Given the description of an element on the screen output the (x, y) to click on. 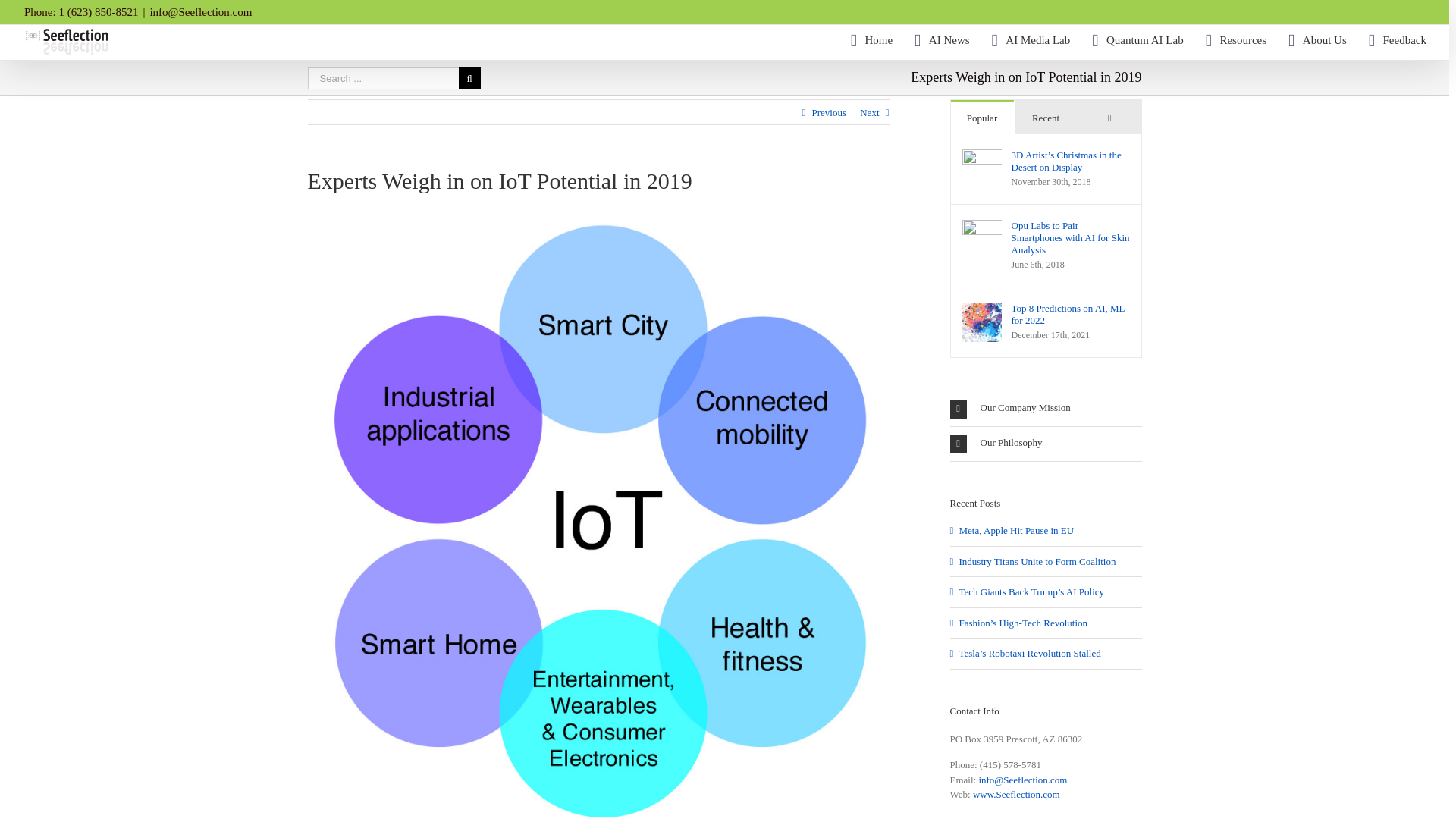
AI News (941, 40)
About Us (1317, 40)
Previous (827, 112)
Resources (1235, 40)
Feedback (1397, 40)
Home (871, 40)
Quantum AI Lab (1137, 40)
AI Media Lab (1030, 40)
